Given the description of an element on the screen output the (x, y) to click on. 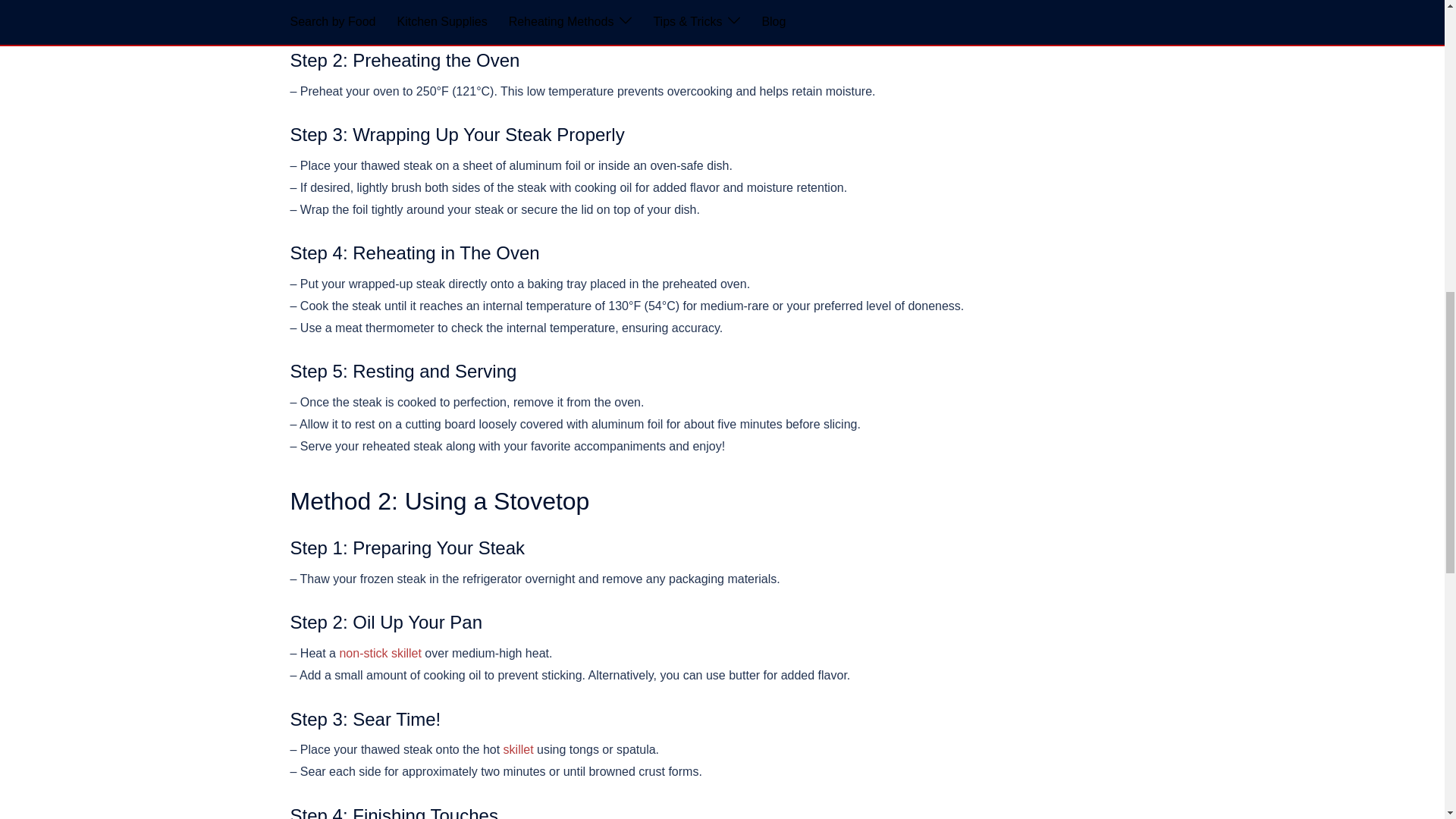
skillet (518, 748)
non-stick skillet (379, 653)
